Given the description of an element on the screen output the (x, y) to click on. 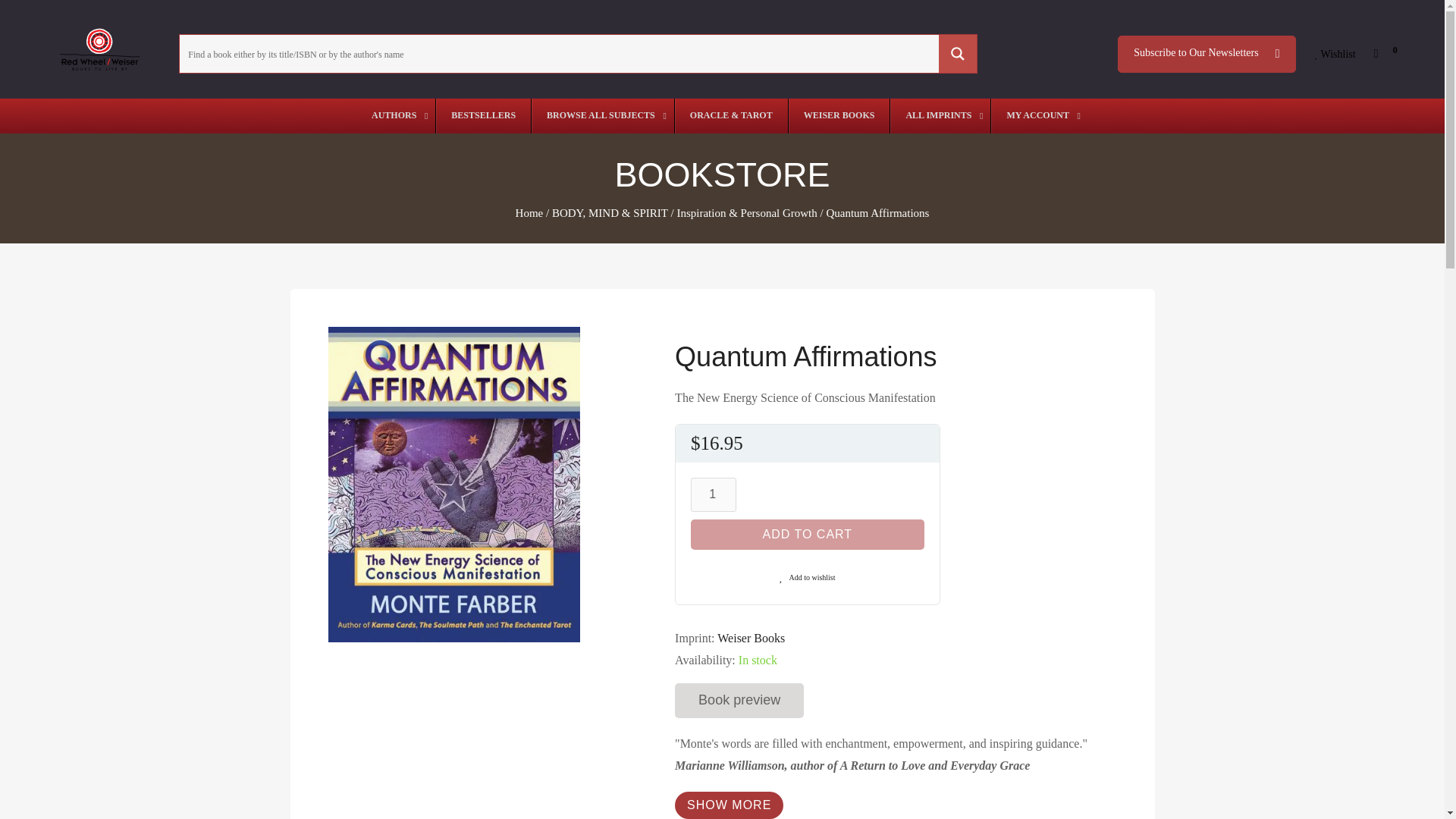
1 (713, 494)
AUTHORS (395, 115)
BESTSELLERS (483, 115)
Subscribe to Our Newsletters (1206, 53)
BROWSE ALL SUBJECTS (602, 115)
Wishlist (1334, 54)
